Given the description of an element on the screen output the (x, y) to click on. 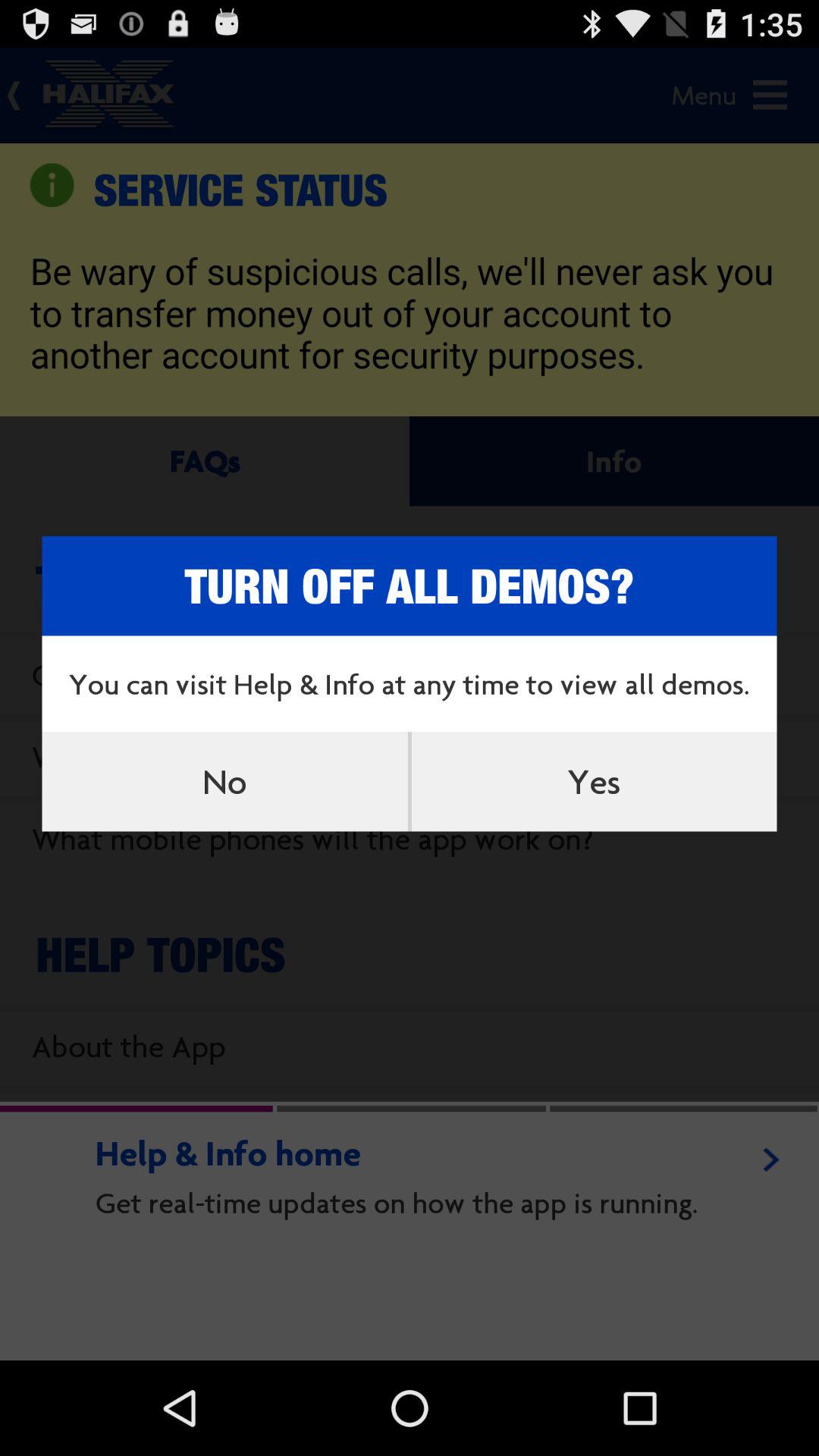
click no (224, 781)
